Given the description of an element on the screen output the (x, y) to click on. 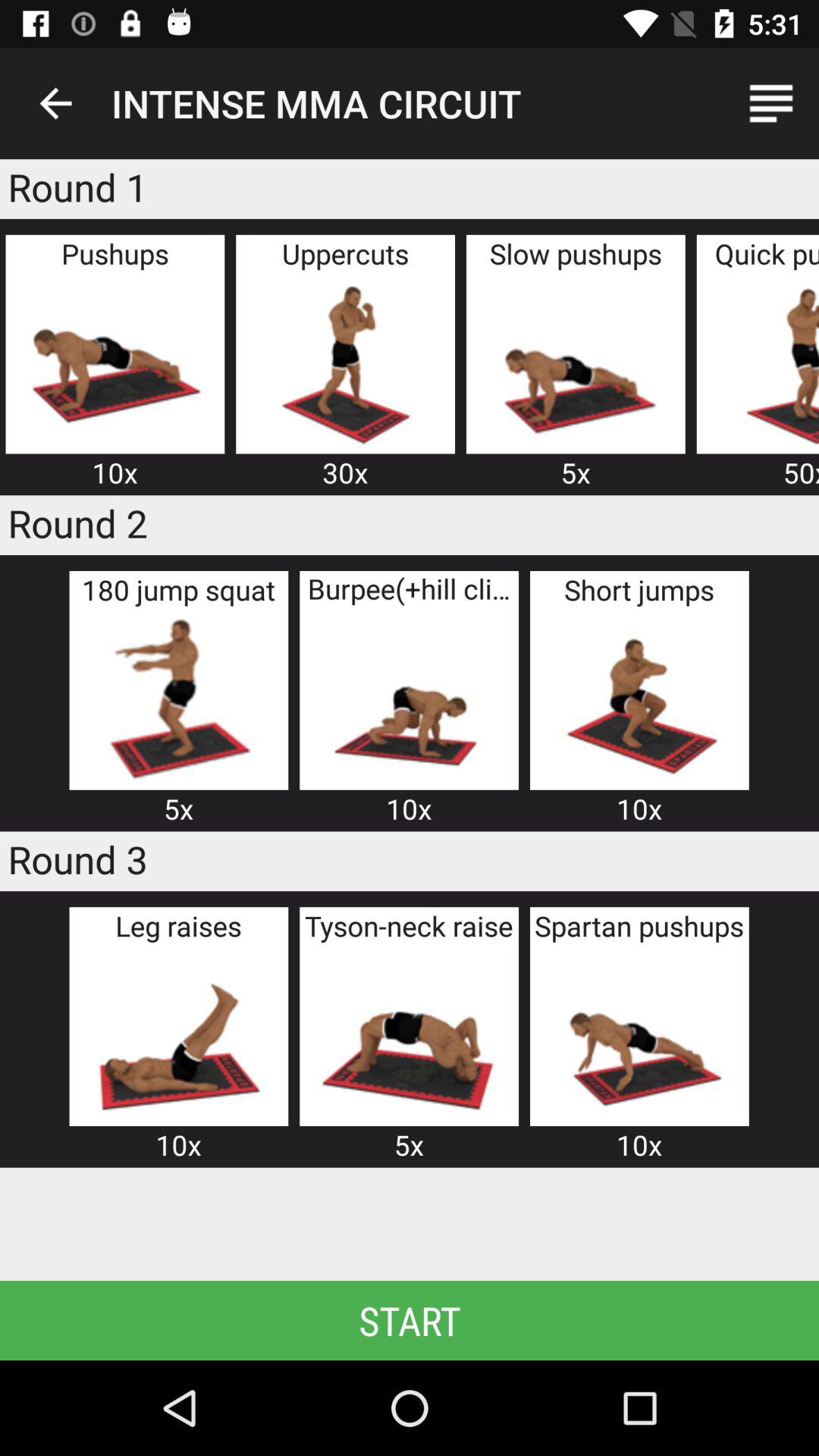
jump to start item (409, 1320)
